Given the description of an element on the screen output the (x, y) to click on. 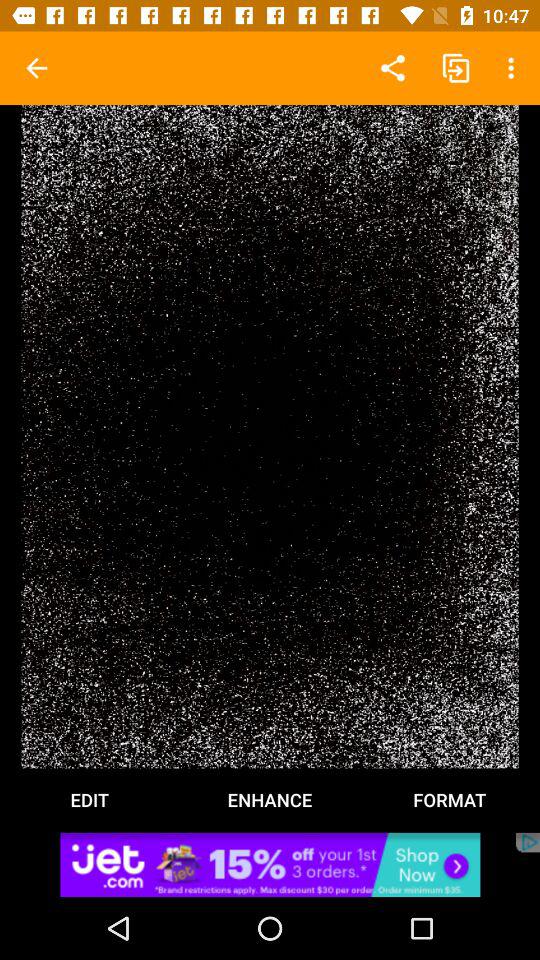
adjust image (270, 436)
